Given the description of an element on the screen output the (x, y) to click on. 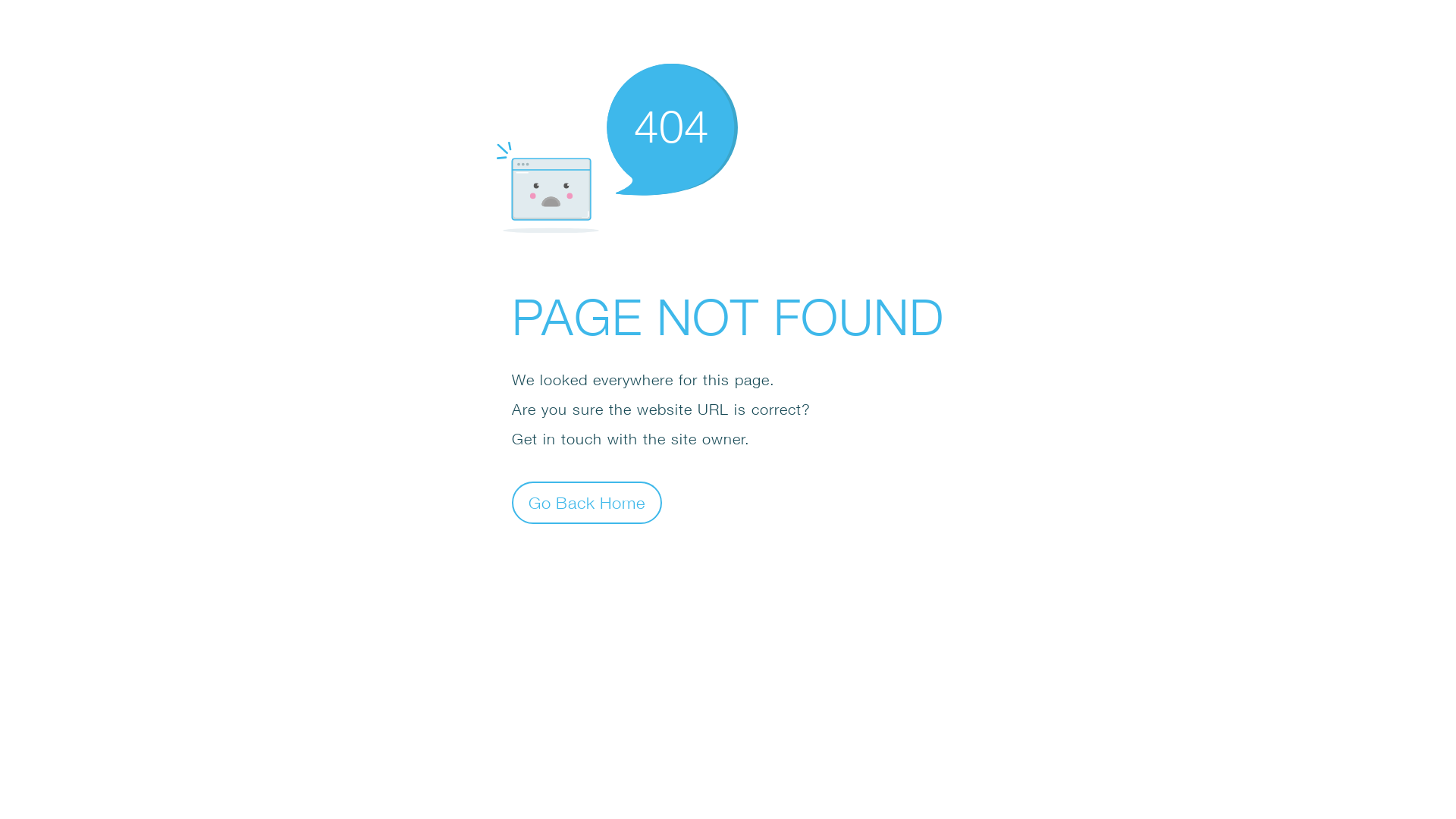
Go Back Home Element type: text (586, 502)
